Given the description of an element on the screen output the (x, y) to click on. 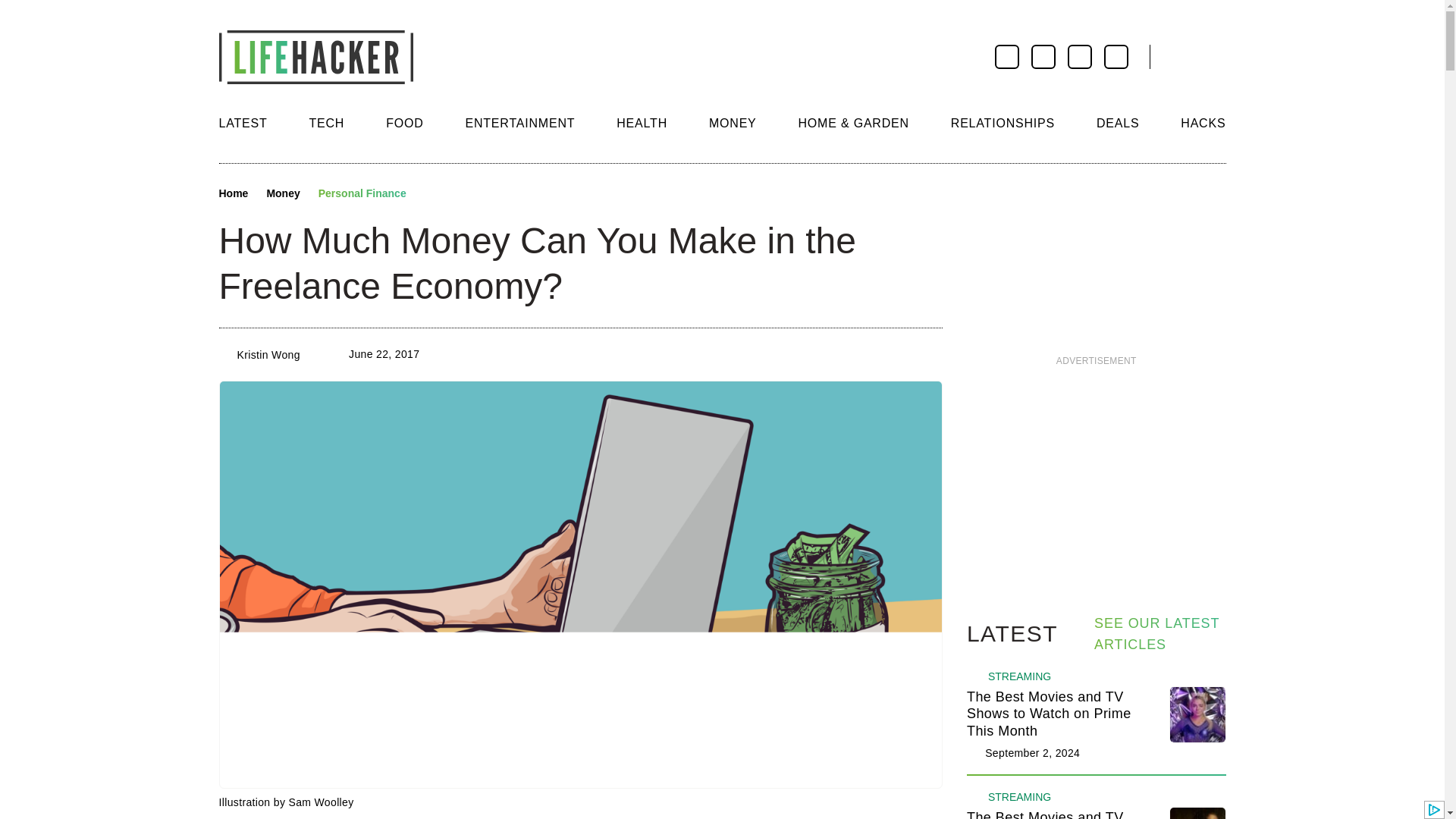
Home (232, 193)
MONEY (733, 123)
TECH (325, 123)
HEALTH (640, 123)
DEALS (1117, 123)
FOOD (404, 123)
LATEST (242, 123)
ENTERTAINMENT (519, 123)
Money (282, 193)
RELATIONSHIPS (1002, 123)
